Given the description of an element on the screen output the (x, y) to click on. 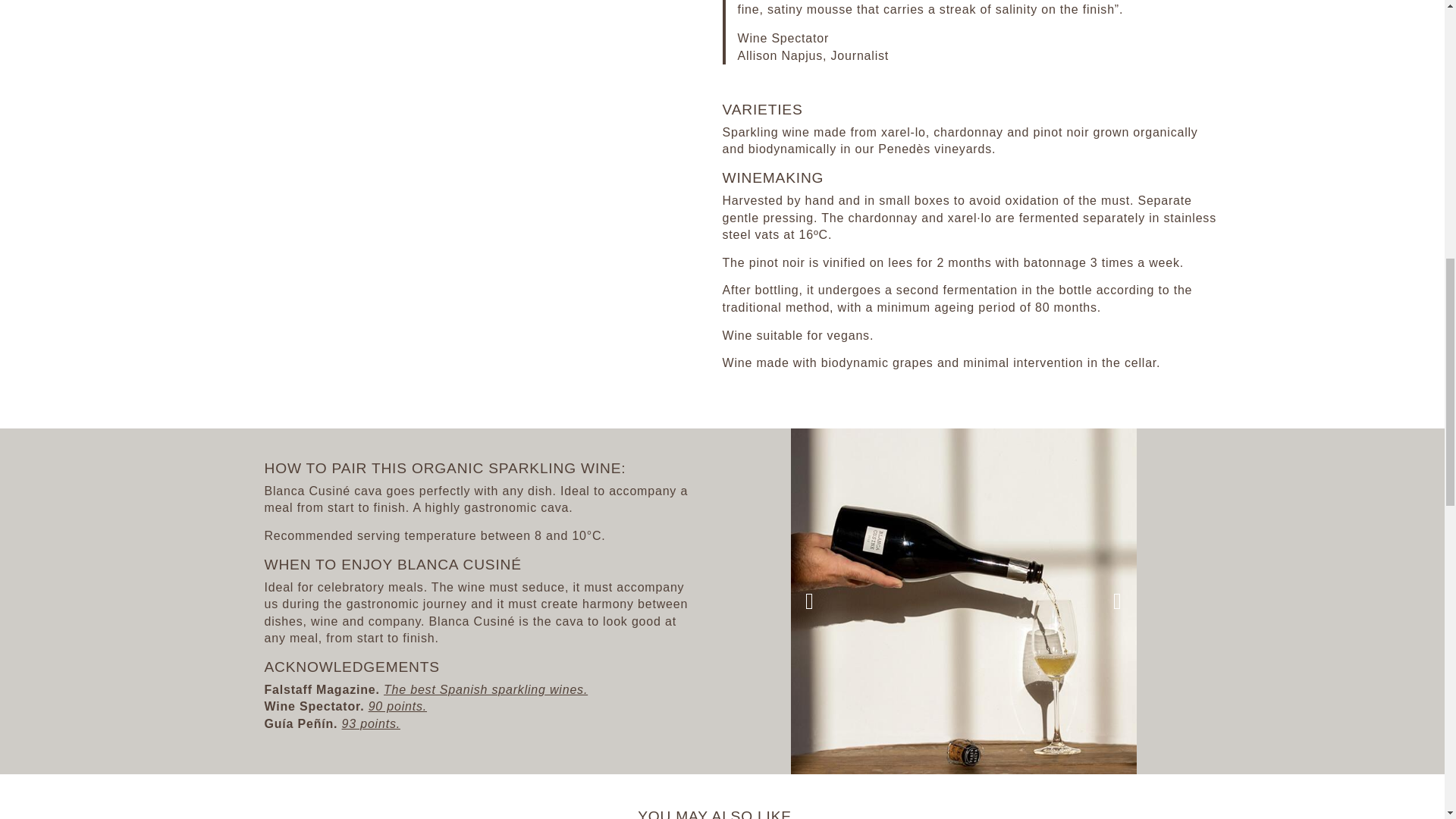
Previous (809, 600)
Next (1116, 600)
The best Spanish sparkling wines. (486, 689)
93 points. (371, 723)
90 points. (397, 706)
